Given the description of an element on the screen output the (x, y) to click on. 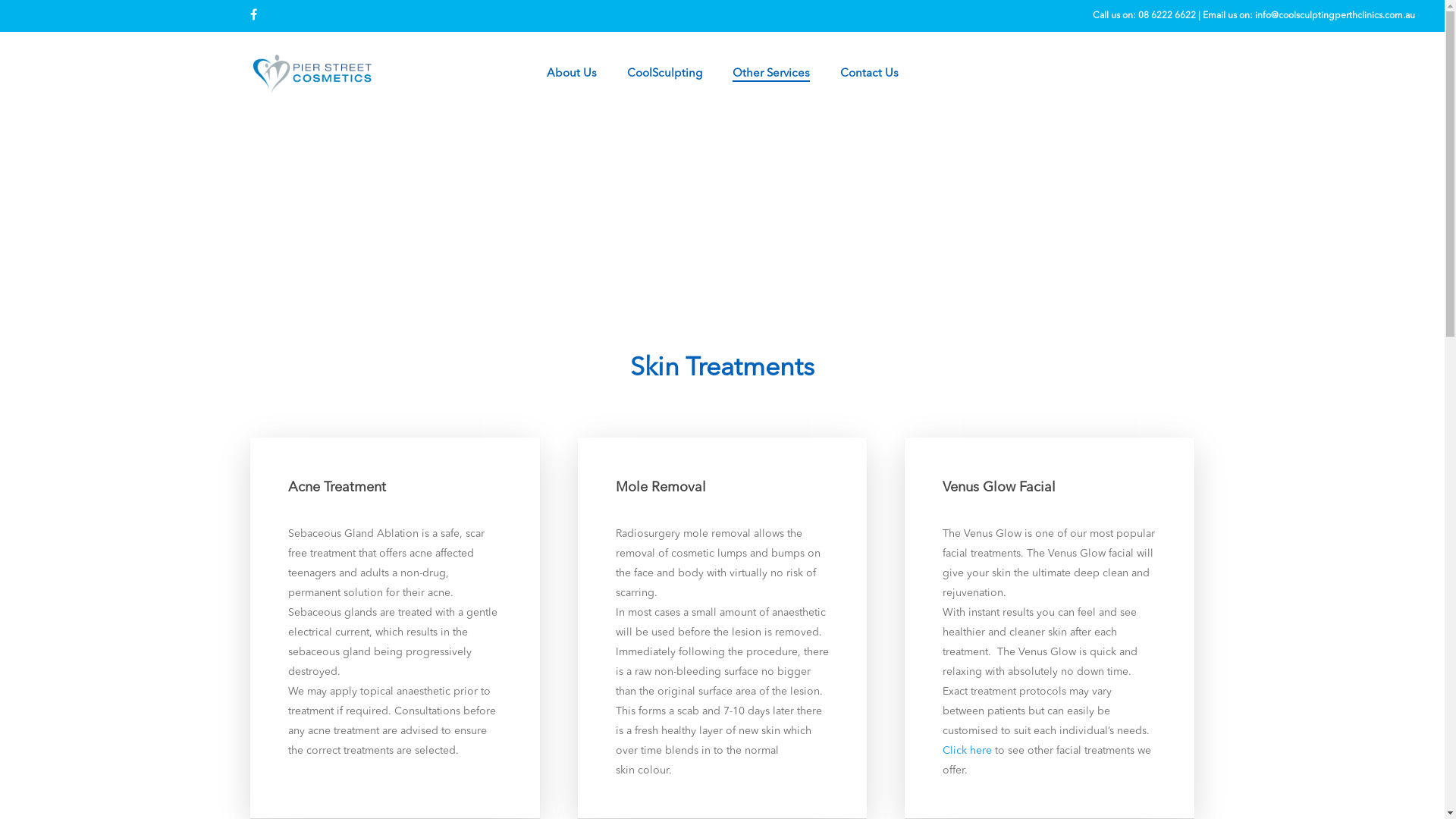
08 6222 6622 Element type: text (1166, 15)
Other Services Element type: text (770, 73)
About Us Element type: text (571, 73)
Click here Element type: text (966, 750)
Contact Us Element type: text (869, 73)
info@coolsculptingperthclinics.com.au Element type: text (1335, 15)
CoolSculpting Element type: text (663, 73)
